Given the description of an element on the screen output the (x, y) to click on. 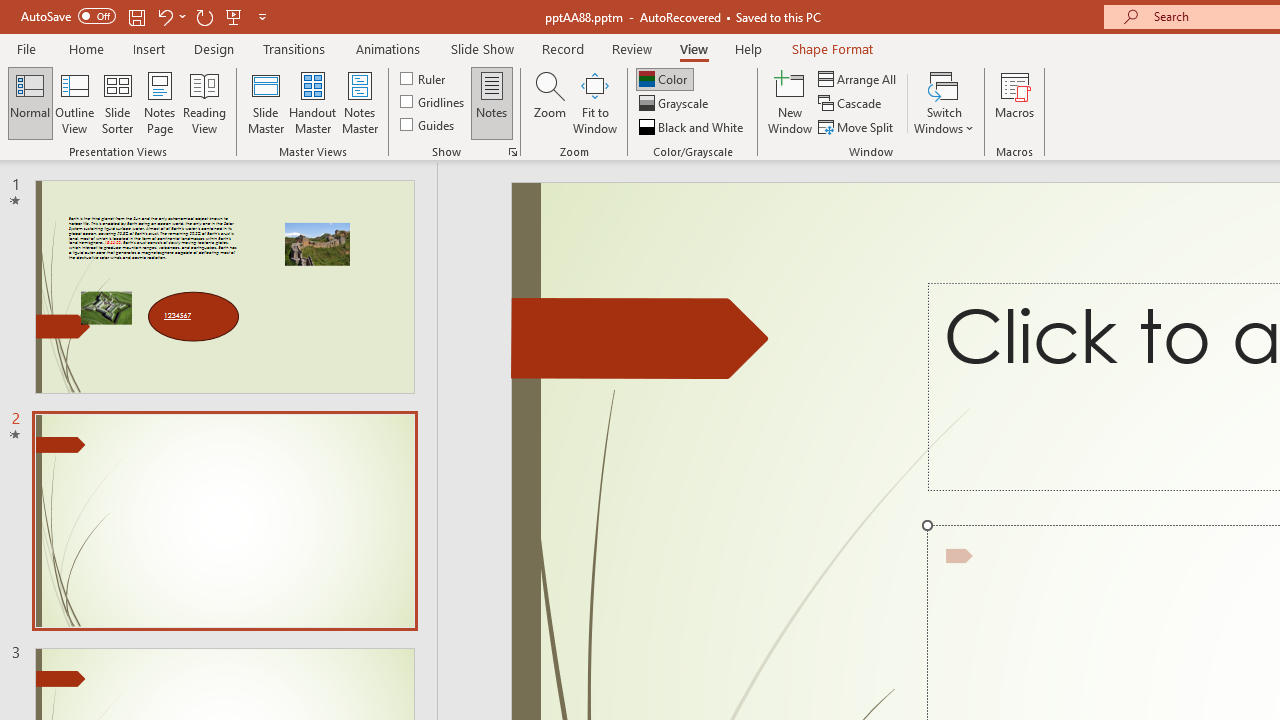
Color (664, 78)
Notes Page (159, 102)
Zoom... (549, 102)
Move Split (857, 126)
Arrange All (858, 78)
Notes Master (360, 102)
Notes (492, 102)
Cascade (851, 103)
